Given the description of an element on the screen output the (x, y) to click on. 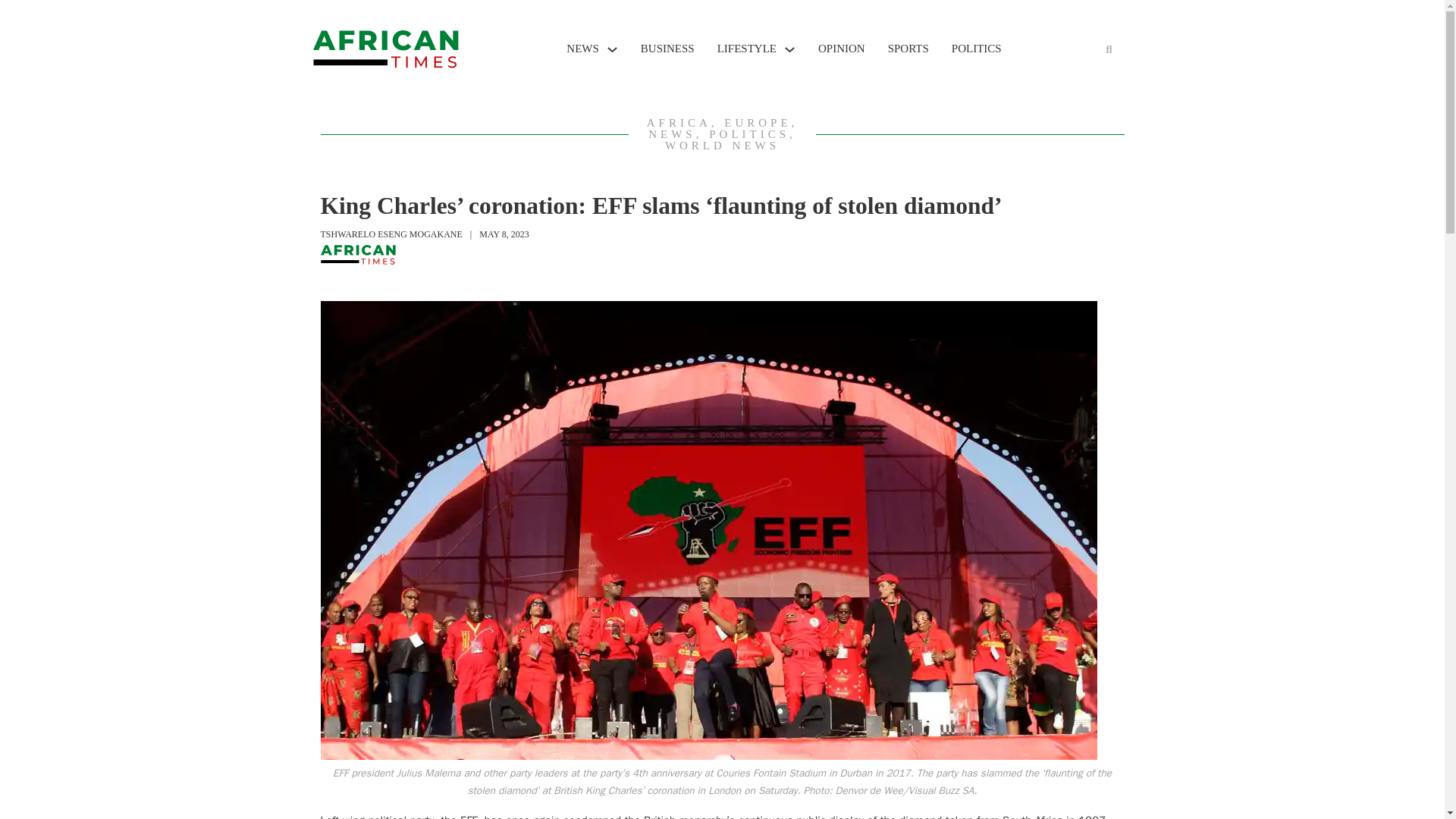
NEWS (582, 48)
BUSINESS (667, 48)
OPINION (841, 48)
POLITICS (976, 48)
LIFESTYLE (746, 48)
SPORTS (908, 48)
